Given the description of an element on the screen output the (x, y) to click on. 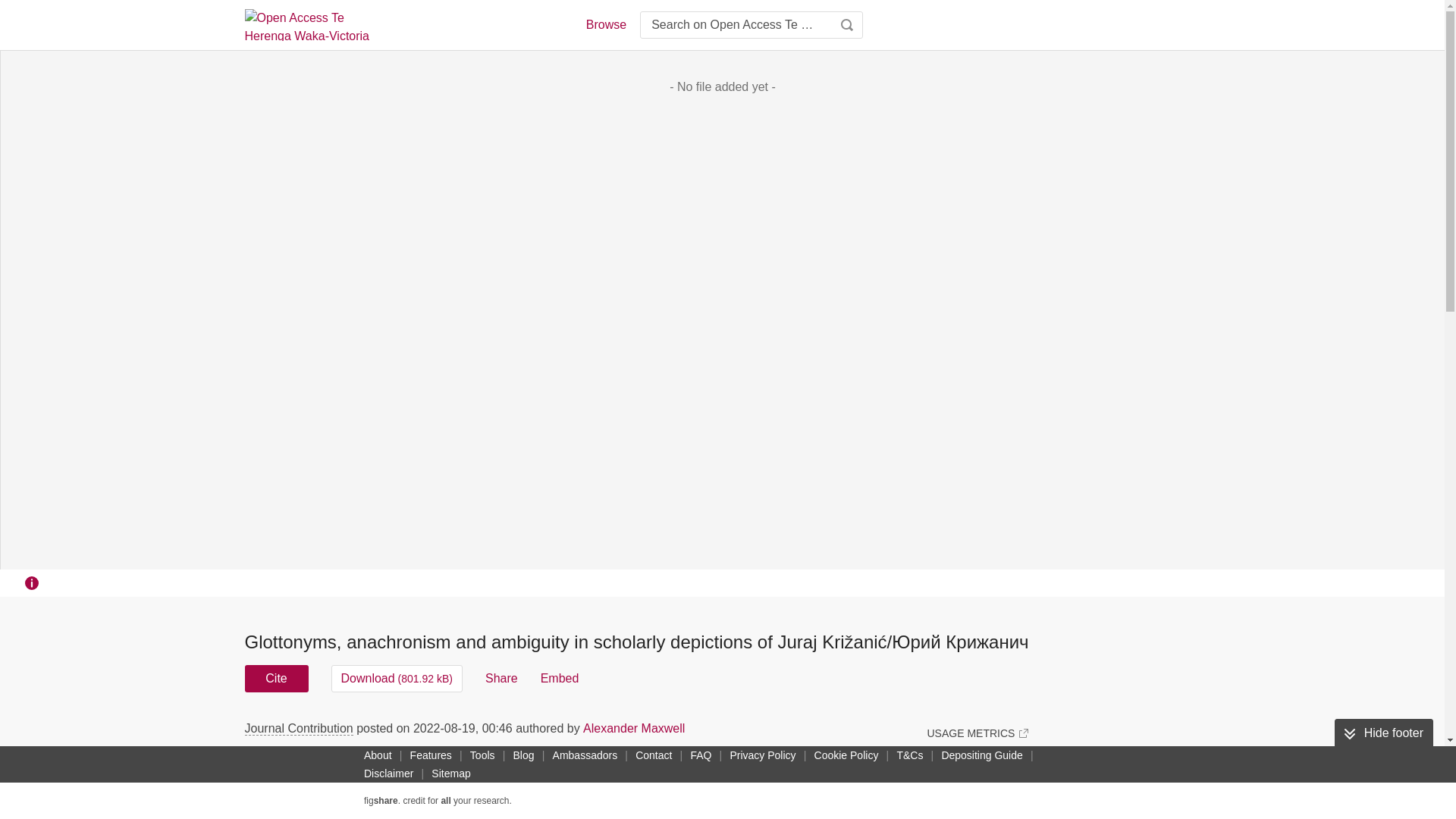
Browse (605, 24)
Ambassadors (585, 755)
About (377, 755)
Embed (559, 678)
Depositing Guide (981, 755)
Contact (653, 755)
Cookie Policy (846, 755)
Tools (482, 755)
Sitemap (450, 773)
Alexander Maxwell (633, 727)
Privacy Policy (762, 755)
Features (431, 755)
Disclaimer (388, 773)
USAGE METRICS (976, 732)
Blog (523, 755)
